Given the description of an element on the screen output the (x, y) to click on. 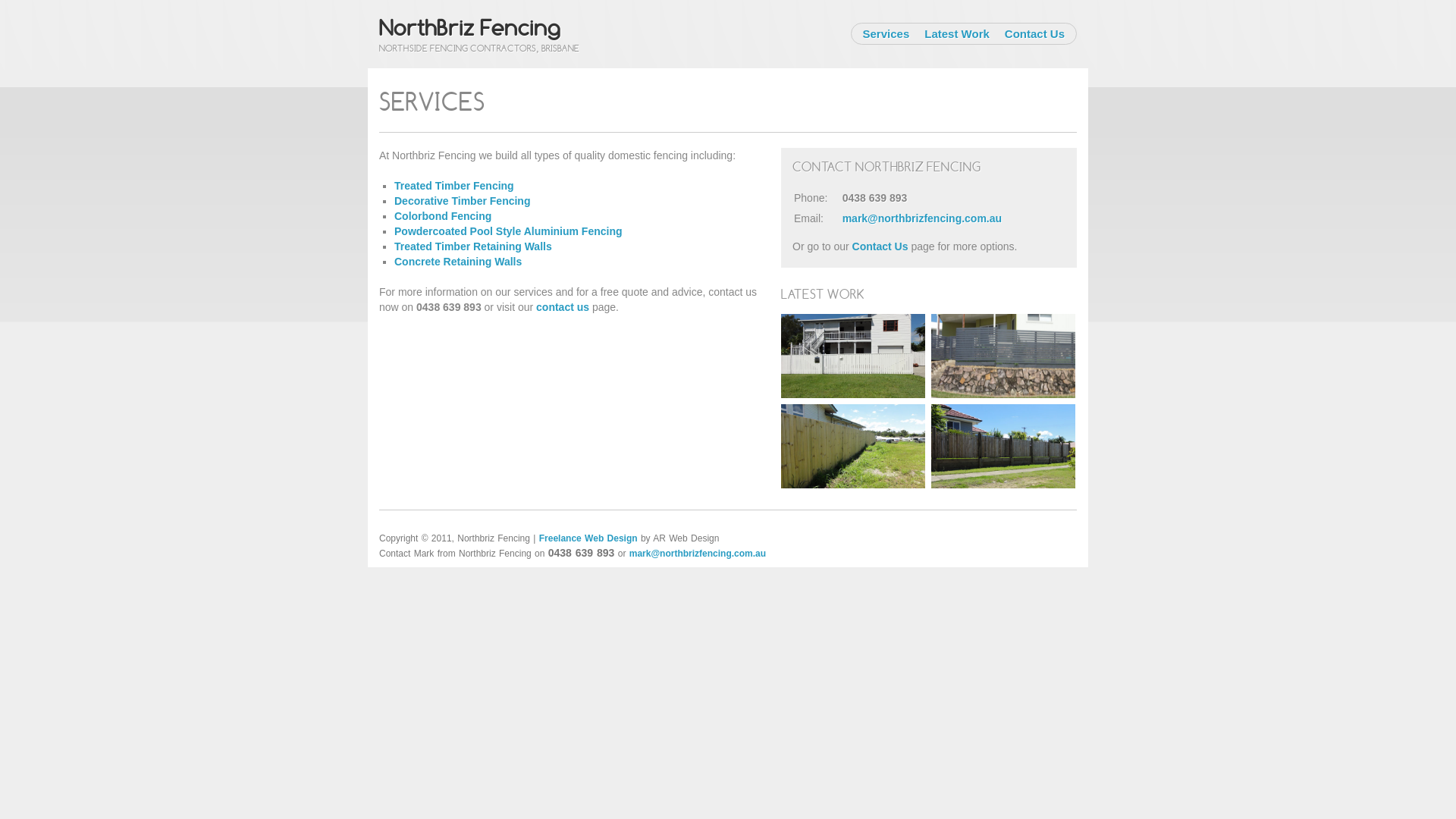
Contact Us Element type: text (1034, 33)
Decorative Timber Fencing Element type: text (462, 200)
Powdercoated Pool Style Aluminium Fencing Element type: text (508, 231)
Colorbond Fencing Element type: text (442, 216)
mark@northbrizfencing.com.au Element type: text (921, 218)
Treated Timber Retaining Walls Element type: text (473, 246)
Services Element type: text (886, 33)
contact us Element type: text (562, 307)
Freelance Web Design Element type: text (588, 538)
NorthBriz Fencing Element type: text (470, 27)
Contact Us Element type: text (880, 246)
Treated Timber Fencing Element type: text (454, 185)
Concrete Retaining Walls Element type: text (457, 261)
Latest Work Element type: text (956, 33)
mark@northbrizfencing.com.au Element type: text (697, 553)
